Given the description of an element on the screen output the (x, y) to click on. 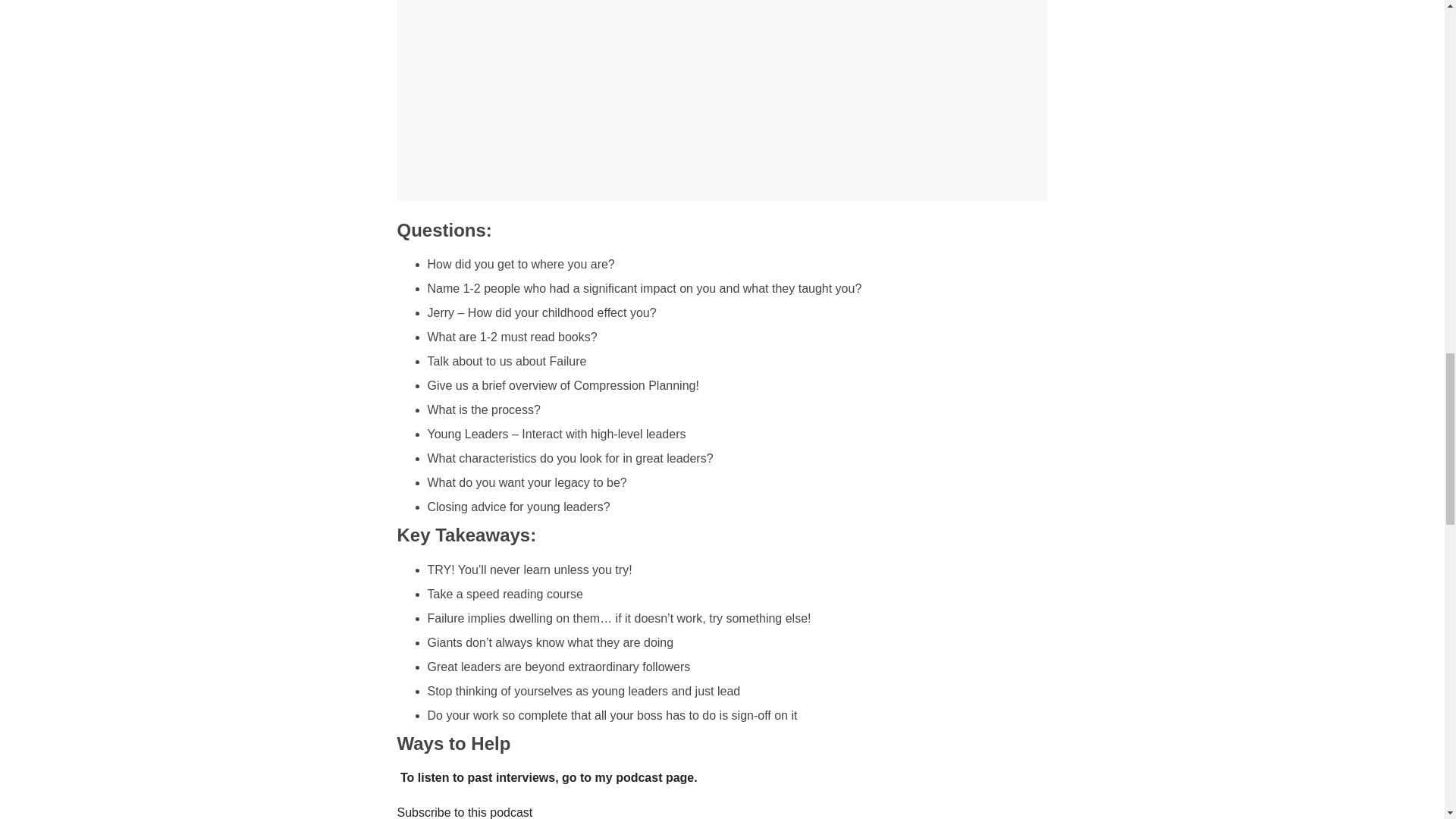
 To listen to past interviews, go to my podcast page.  (549, 777)
Subscribe to this podcast (464, 812)
